Given the description of an element on the screen output the (x, y) to click on. 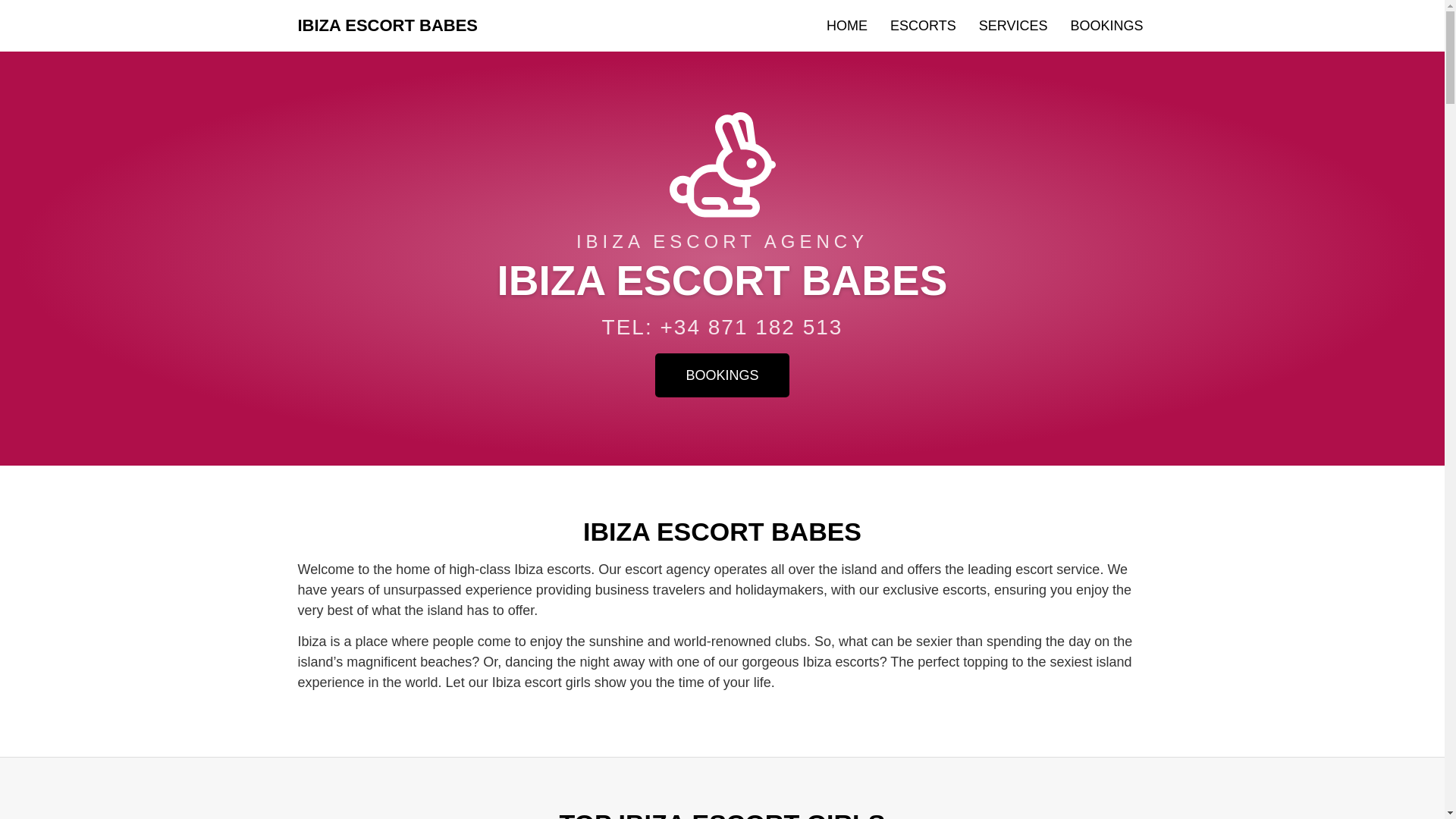
ESCORTS (923, 25)
BOOKINGS (1106, 25)
ibiza-escort-babes (721, 164)
BOOKINGS (722, 374)
HOME (847, 25)
IBIZA ESCORT BABES (387, 25)
SERVICES (1013, 25)
